Given the description of an element on the screen output the (x, y) to click on. 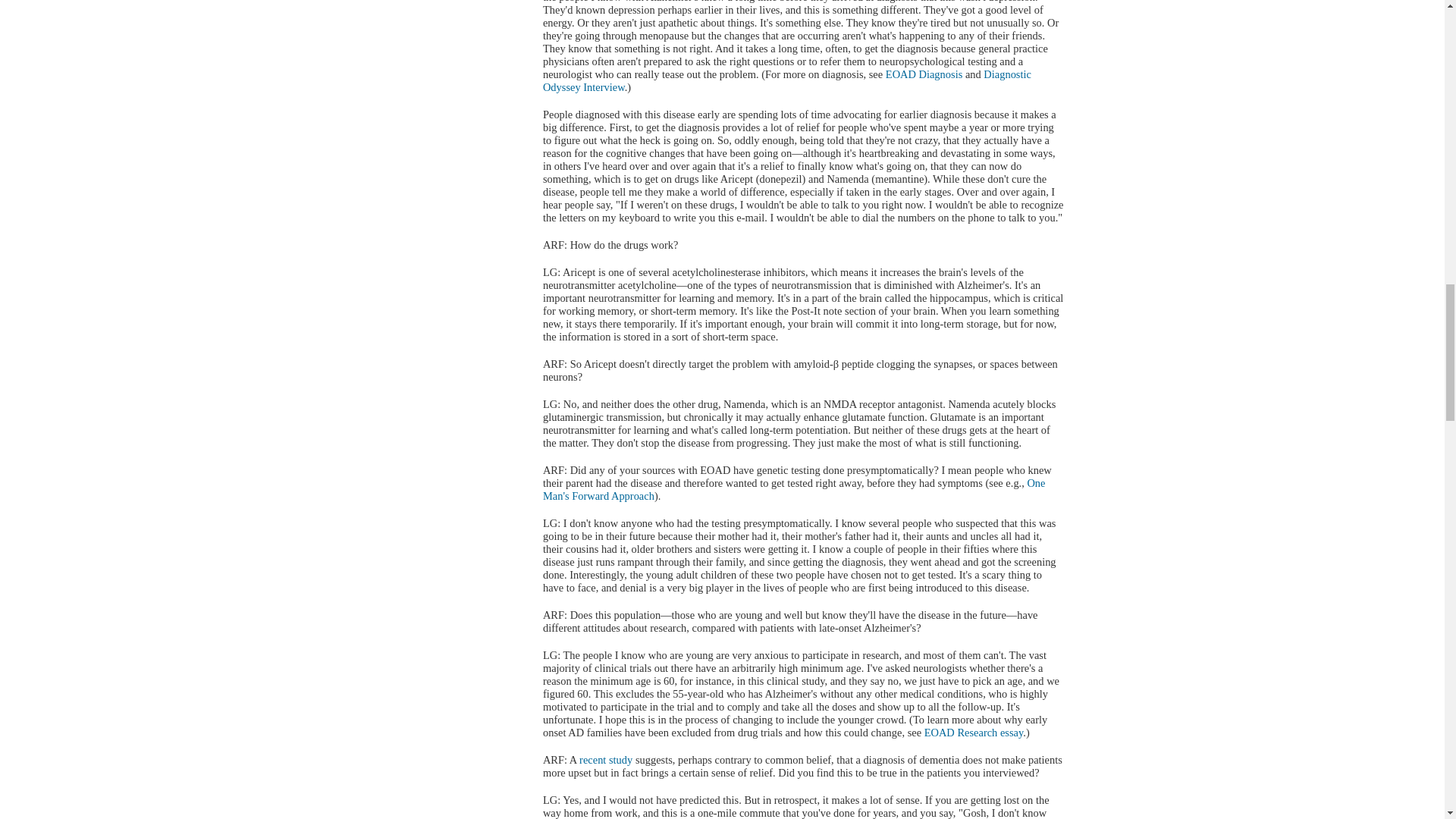
recent study (605, 759)
Diagnostic Odyssey Interview (786, 80)
EOAD Research essay (973, 732)
EOAD Diagnosis (923, 73)
One Man's Forward Approach (794, 489)
